Given the description of an element on the screen output the (x, y) to click on. 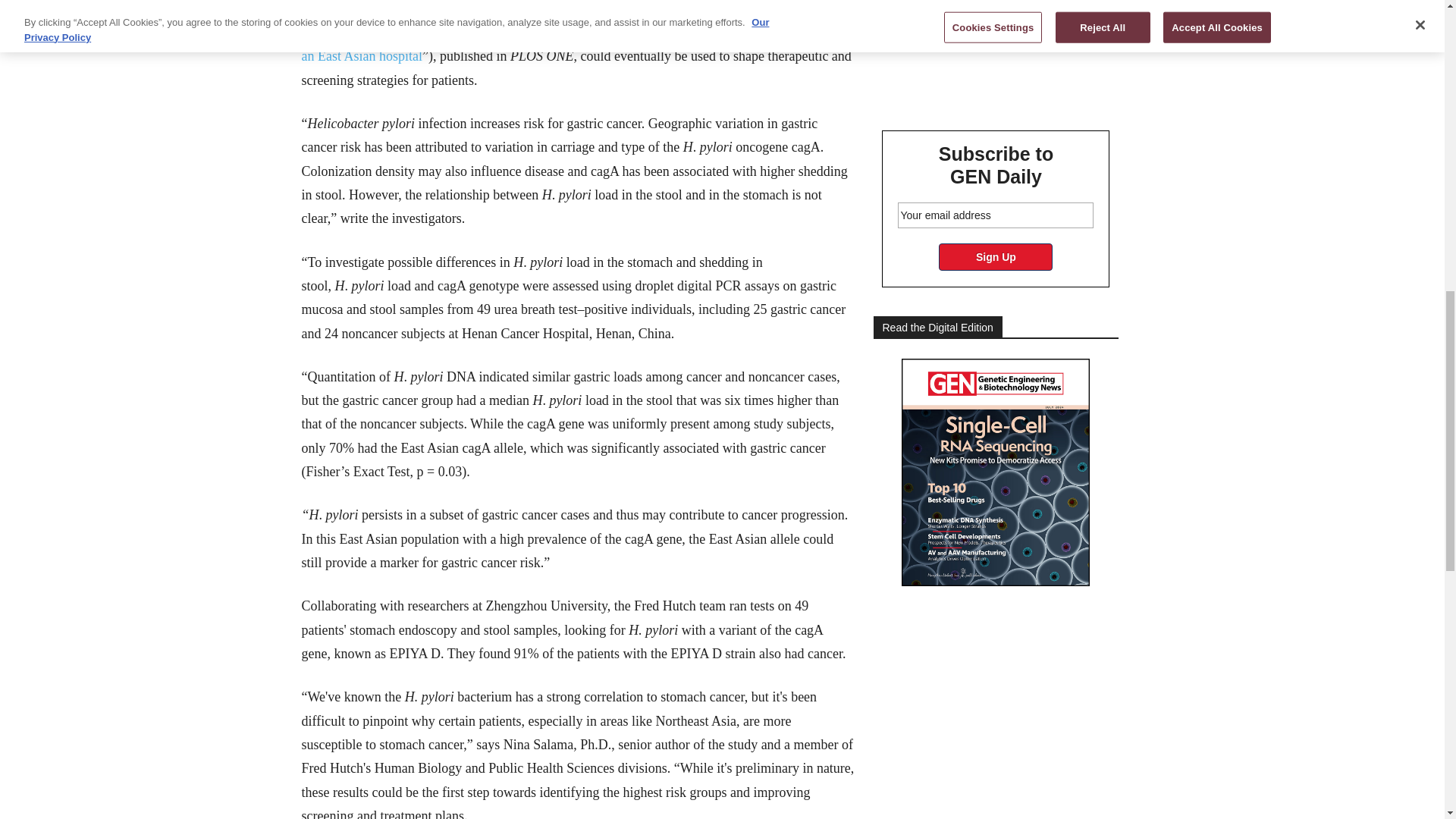
Sign Up (995, 257)
